Given the description of an element on the screen output the (x, y) to click on. 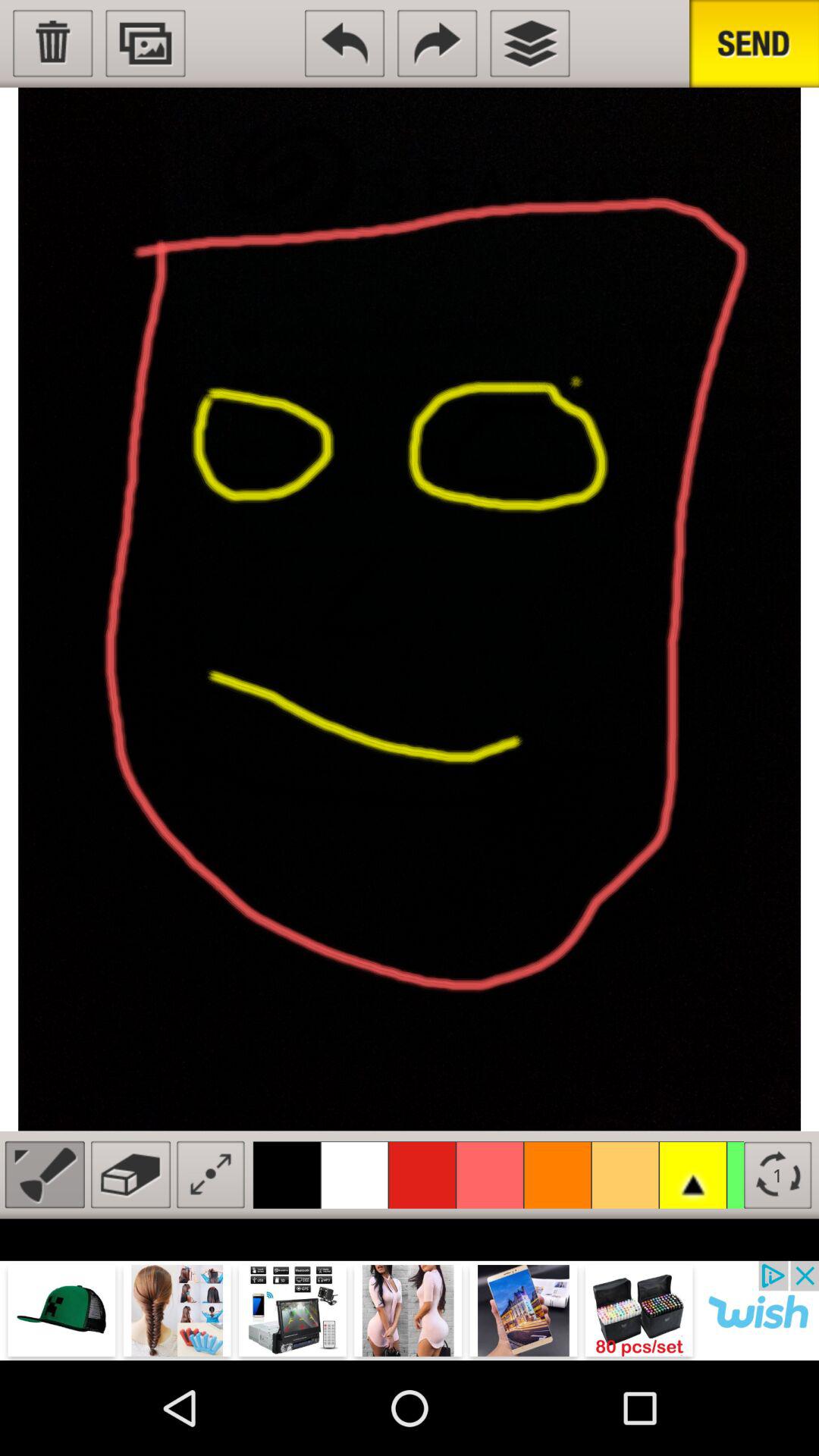
advertising (409, 1310)
